Given the description of an element on the screen output the (x, y) to click on. 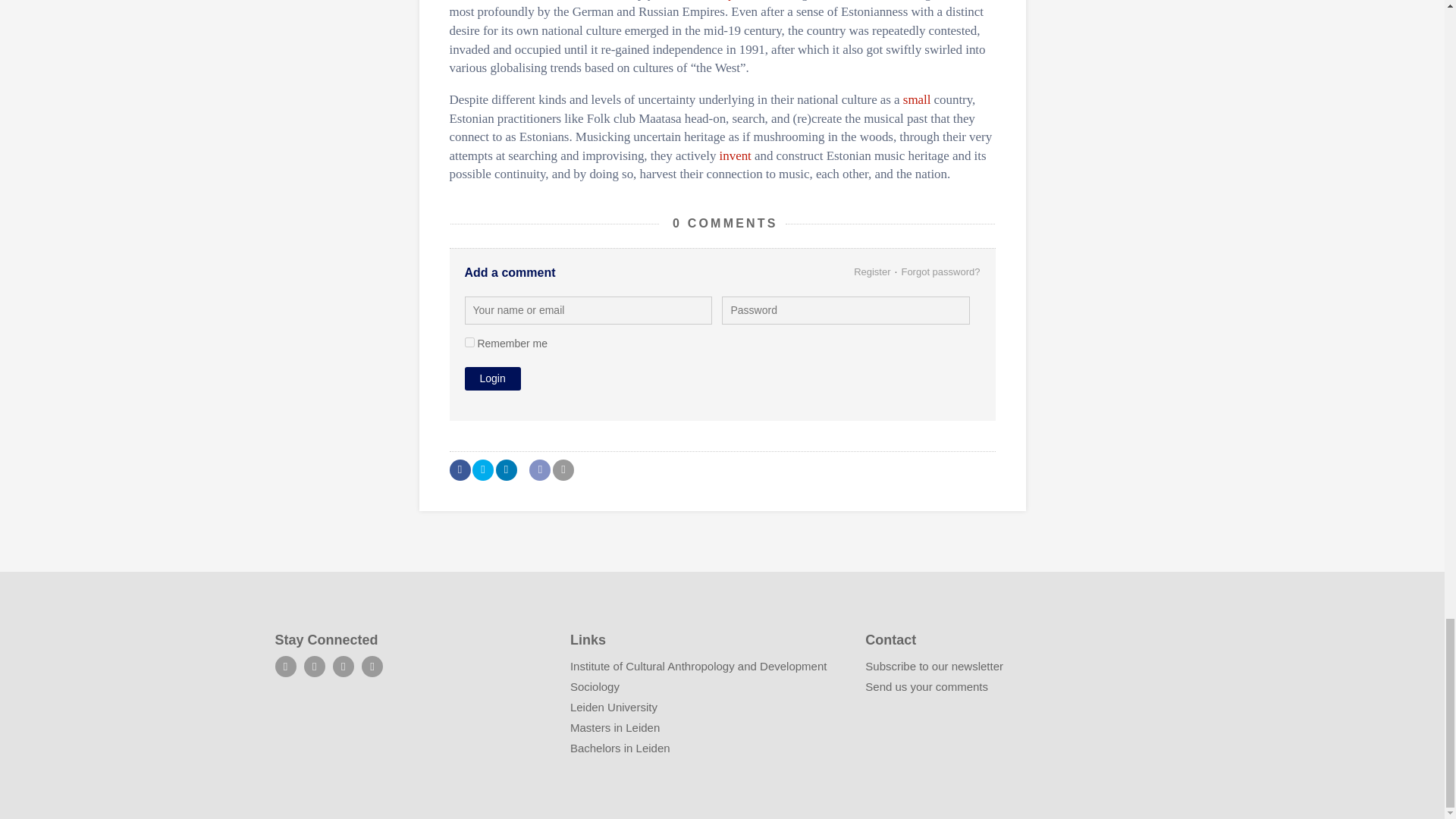
Masters in Leiden (614, 727)
Login (491, 378)
Forgot password? (940, 271)
Subscribe to our newsletter (933, 666)
Send us your comments (926, 686)
Leiden University (614, 707)
invent (735, 155)
small (916, 99)
Login (491, 378)
